Given the description of an element on the screen output the (x, y) to click on. 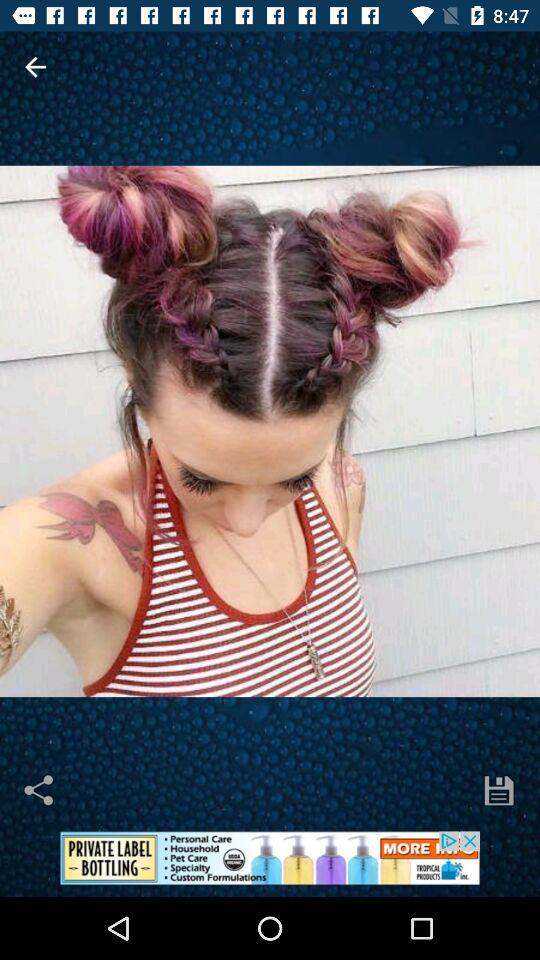
advertisement banner (270, 864)
